Given the description of an element on the screen output the (x, y) to click on. 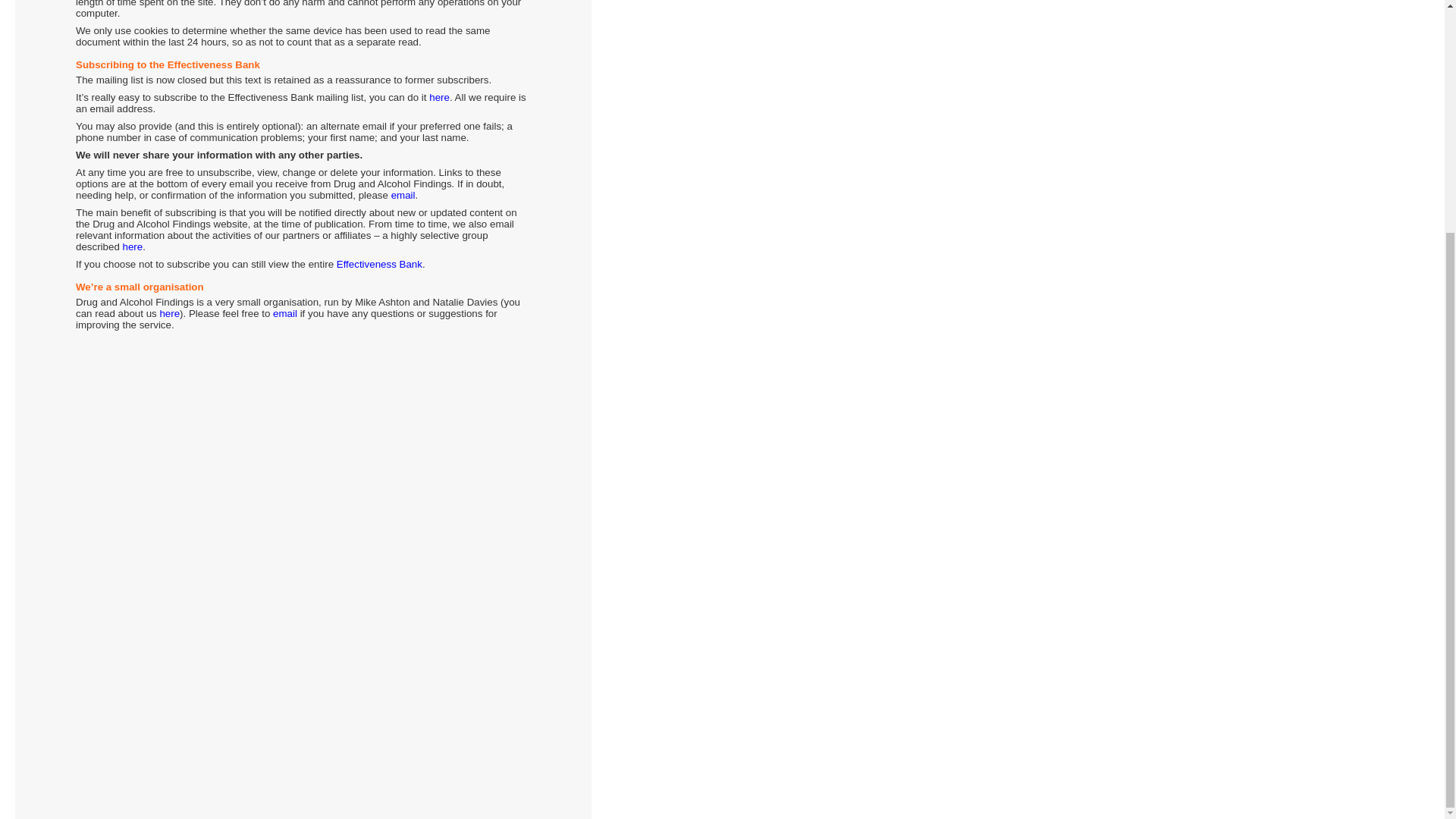
Effectiveness Bank (379, 264)
email (285, 313)
here (132, 246)
email (402, 194)
here (168, 313)
here (439, 97)
